Given the description of an element on the screen output the (x, y) to click on. 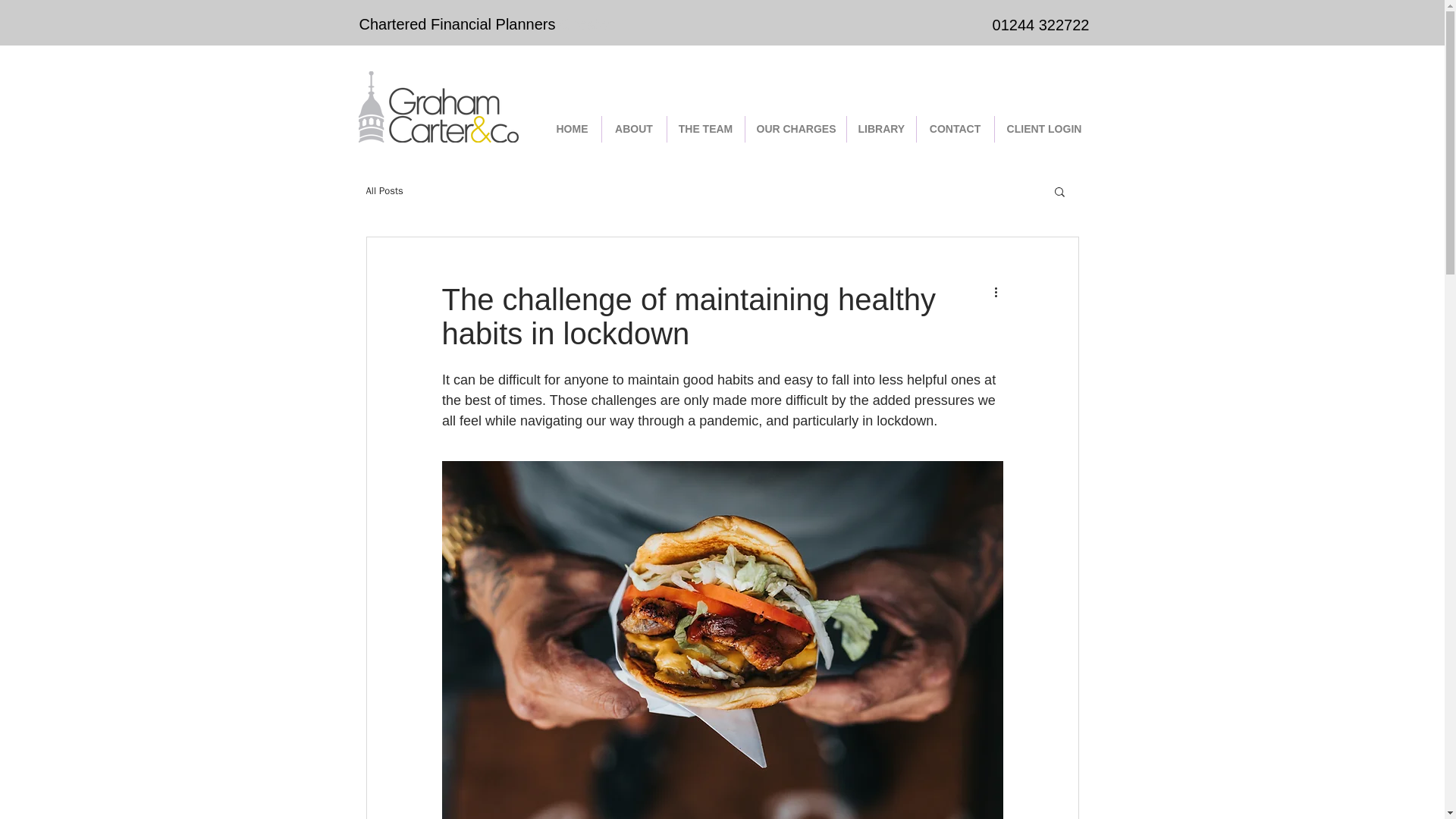
LIBRARY (880, 129)
01244 322722 (1040, 24)
All Posts (384, 191)
CLIENT LOGIN (1044, 129)
THE TEAM (705, 129)
CONTACT (953, 129)
ABOUT (634, 129)
HOME (571, 129)
OUR CHARGES (794, 129)
